Given the description of an element on the screen output the (x, y) to click on. 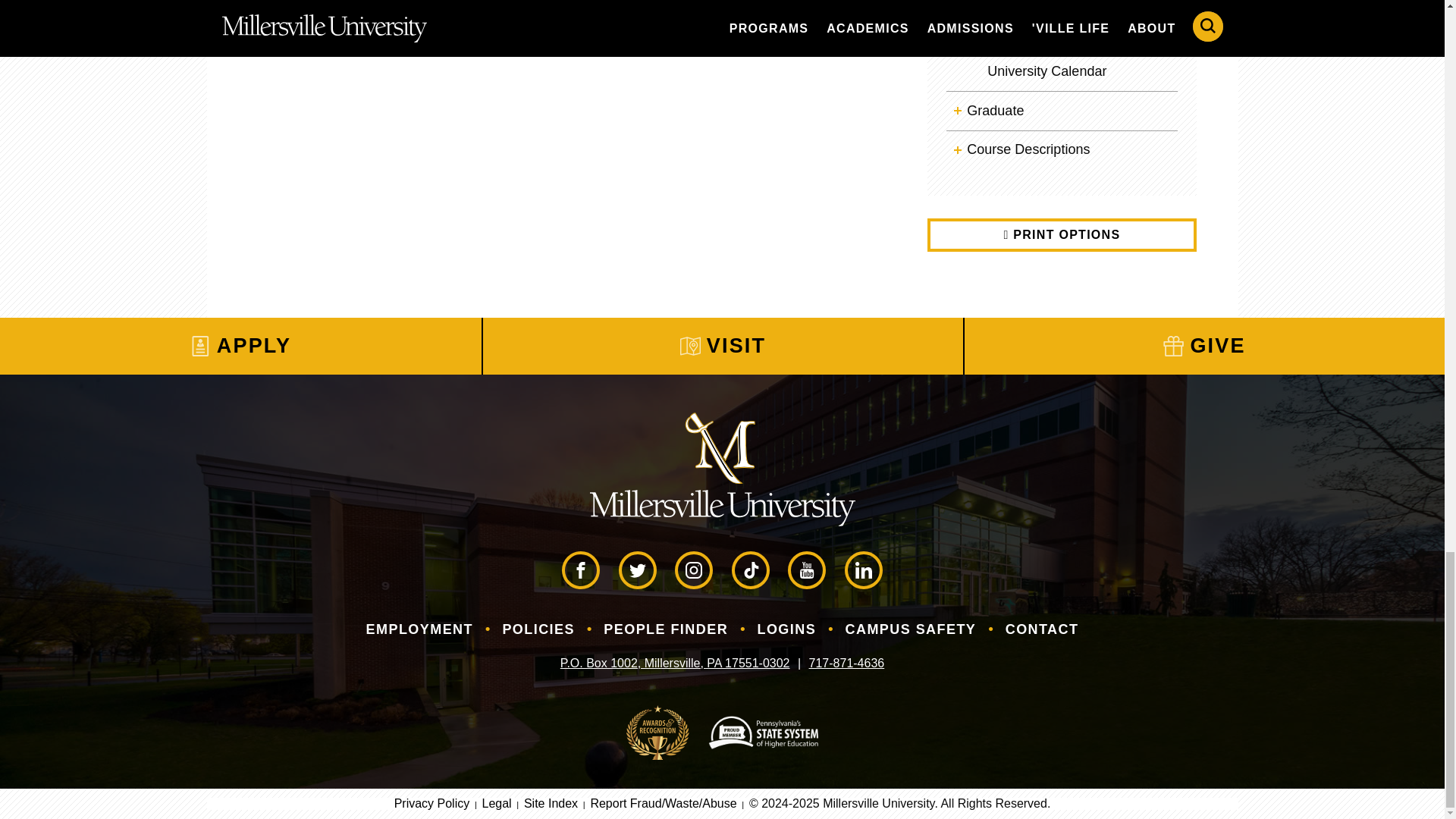
Policies (537, 629)
Facebook (580, 569)
Instagram (694, 569)
LinkedIn (863, 569)
TikTok (751, 569)
Twitter (637, 569)
Campus Safety (911, 629)
Contact (1042, 629)
People Finder (665, 629)
YouTube (806, 569)
Logins (785, 629)
Employment (419, 629)
